Given the description of an element on the screen output the (x, y) to click on. 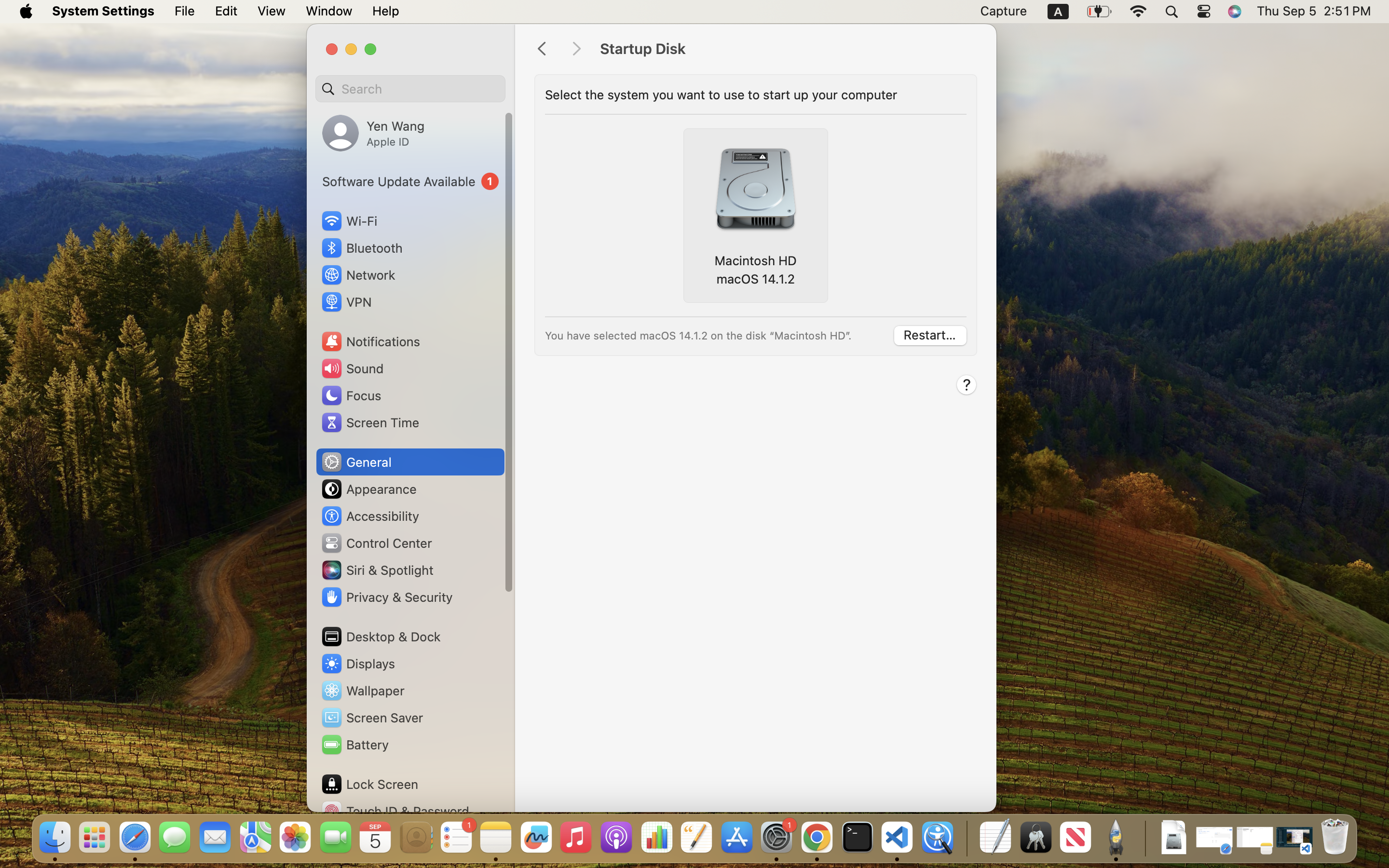
Privacy & Security Element type: AXStaticText (386, 596)
Wallpaper Element type: AXStaticText (362, 690)
Accessibility Element type: AXStaticText (369, 515)
Displays Element type: AXStaticText (357, 663)
